Given the description of an element on the screen output the (x, y) to click on. 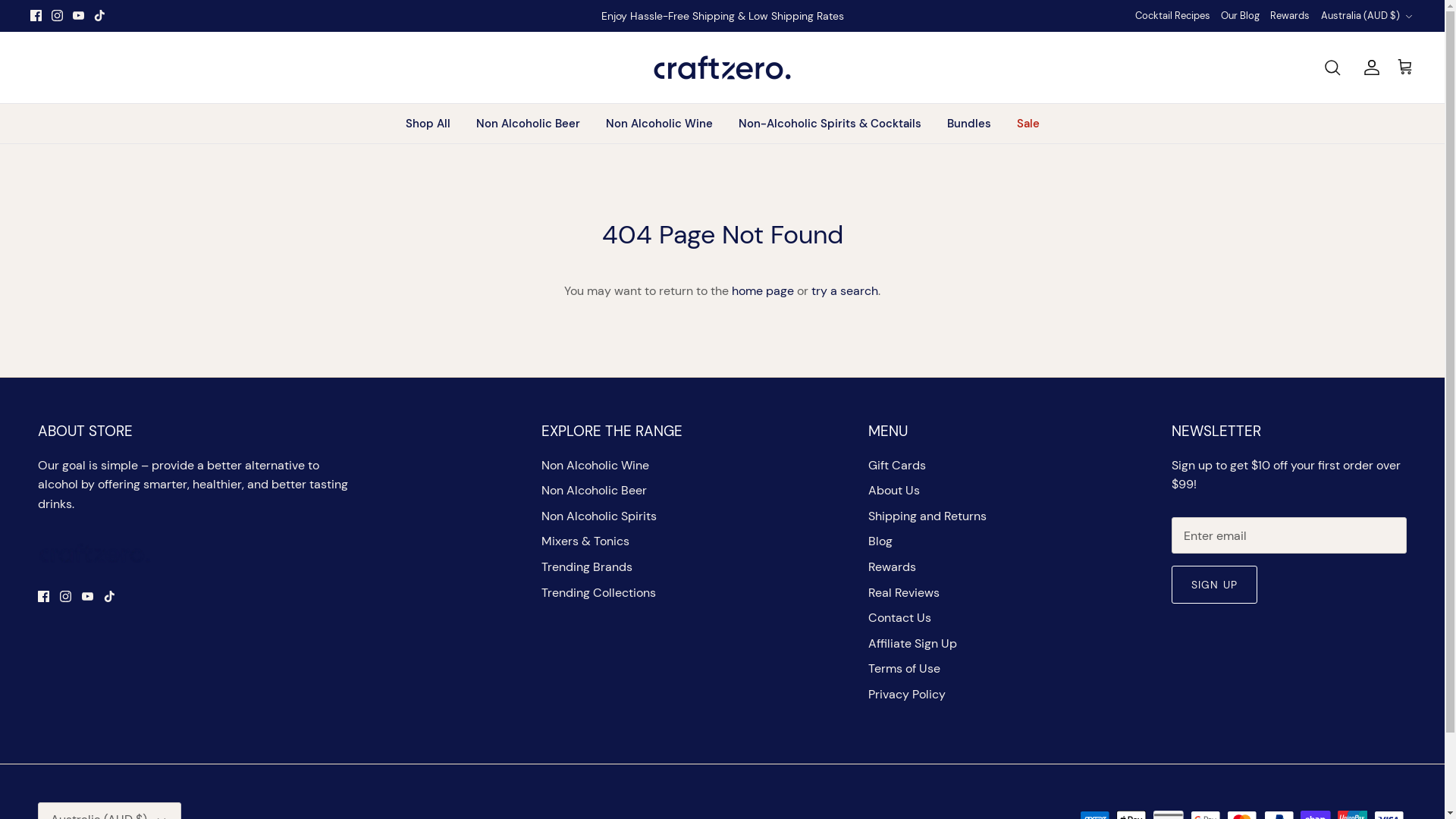
Gift Cards Element type: text (896, 465)
Affiliate Sign Up Element type: text (912, 643)
Non-Alcoholic Spirits & Cocktails Element type: text (828, 123)
Mixers & Tonics Element type: text (585, 541)
Non Alcoholic Wine Element type: text (659, 123)
Facebook Element type: text (35, 15)
Australia (AUD $)
Down Element type: text (1367, 15)
SIGN UP Element type: text (1214, 584)
Privacy Policy Element type: text (906, 694)
Instagram Element type: text (65, 596)
Contact Us Element type: text (899, 617)
Non Alcoholic Spirits Element type: text (598, 516)
home page Element type: text (762, 290)
Non Alcoholic Beer Element type: text (593, 490)
Youtube Element type: text (87, 596)
Cocktail Recipes Element type: text (1172, 16)
About Us Element type: text (893, 490)
Terms of Use Element type: text (904, 668)
Shop All Element type: text (427, 123)
Instagram Element type: text (56, 15)
Youtube Element type: text (78, 15)
Craftzero Element type: hover (722, 67)
Non Alcoholic Wine Element type: text (595, 465)
Non Alcoholic Beer Element type: text (527, 123)
Trending Collections Element type: text (598, 592)
Rewards Element type: text (892, 566)
Our Blog Element type: text (1239, 16)
Trending Brands Element type: text (586, 566)
Account Element type: text (1368, 67)
Rewards Element type: text (1289, 16)
Shipping and Returns Element type: text (927, 516)
try a search Element type: text (844, 290)
Blog Element type: text (880, 541)
Sale Element type: text (1028, 123)
Cart Element type: text (1405, 67)
Bundles Element type: text (968, 123)
Real Reviews Element type: text (903, 592)
Search Element type: text (1332, 67)
Facebook Element type: text (43, 596)
